Given the description of an element on the screen output the (x, y) to click on. 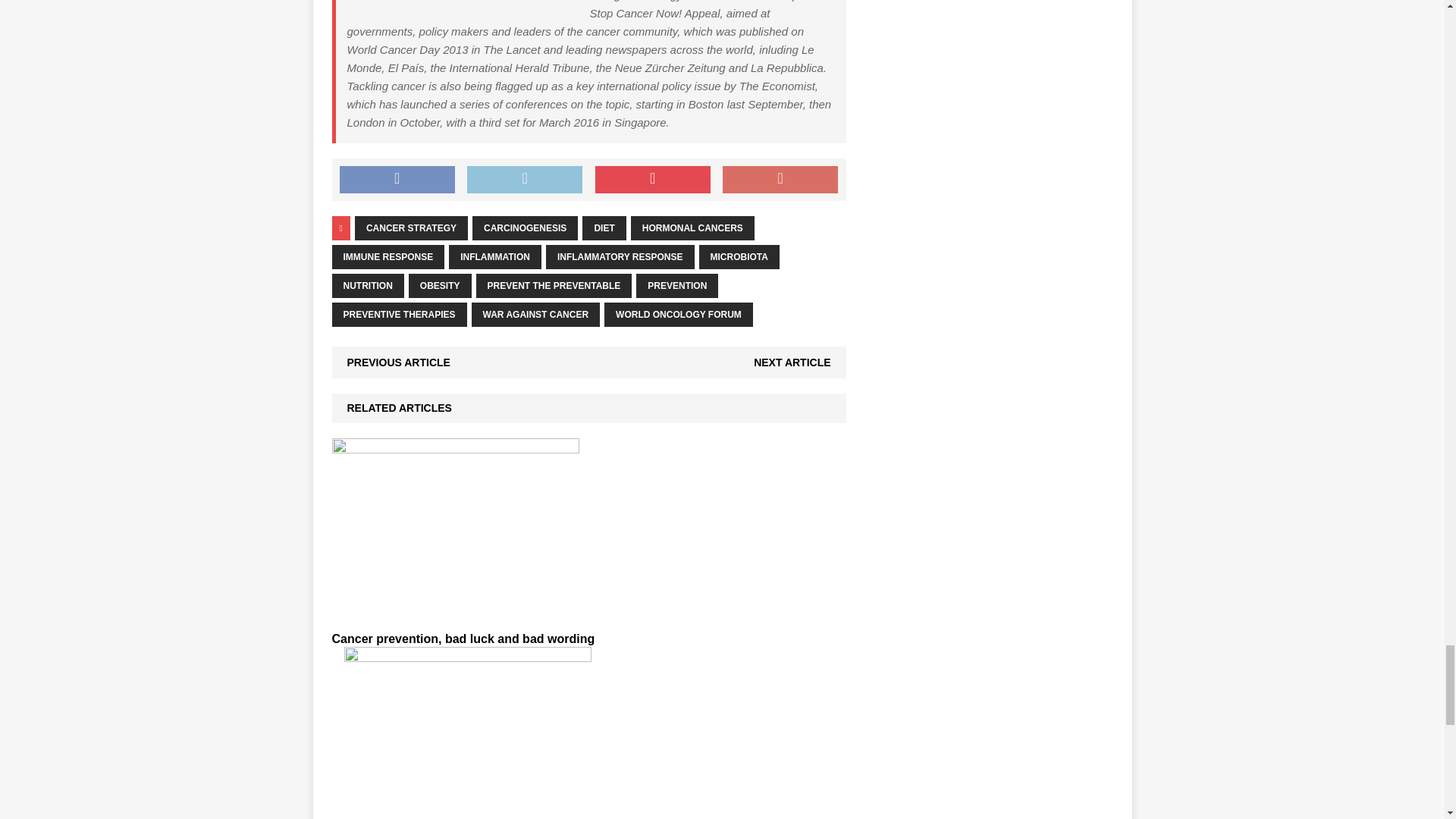
HORMONAL CANCERS (692, 228)
PREVIOUS ARTICLE (398, 362)
CARCINOGENESIS (524, 228)
MICROBIOTA (738, 256)
INFLAMMATORY RESPONSE (620, 256)
Cancer prevention, bad luck and bad wording (463, 638)
CANCER STRATEGY (411, 228)
INFLAMMATION (494, 256)
Share on Facebook (396, 179)
Tweet This Post (524, 179)
